Given the description of an element on the screen output the (x, y) to click on. 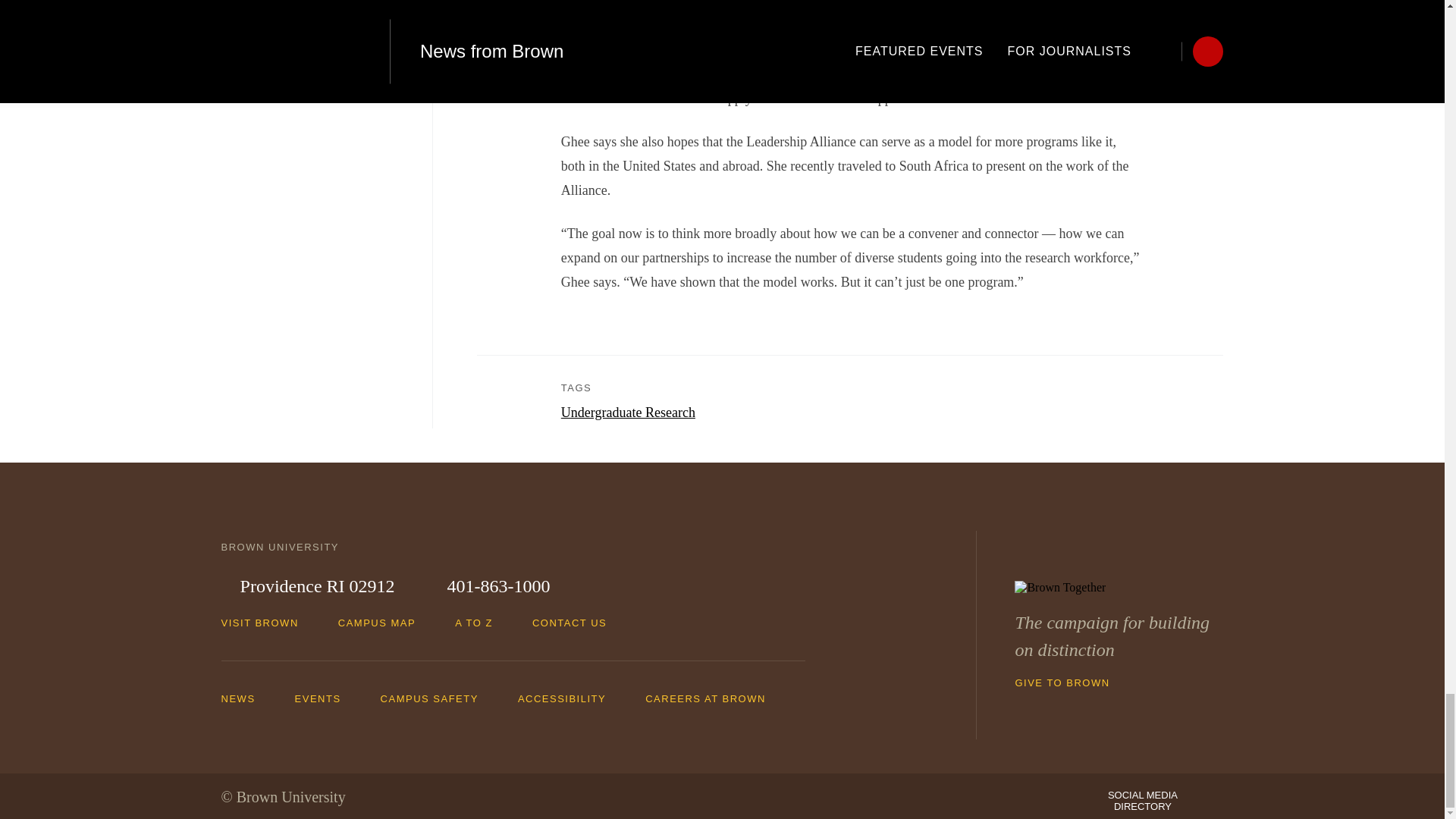
Undergraduate Research (627, 412)
Providence RI 02912 (307, 586)
CAREERS AT BROWN (712, 697)
A TO Z (481, 622)
401-863-1000 (489, 586)
CAMPUS MAP (383, 622)
ACCESSIBILITY (569, 697)
VISIT BROWN (267, 622)
CAMPUS SAFETY (436, 697)
CONTACT US (576, 622)
